Given the description of an element on the screen output the (x, y) to click on. 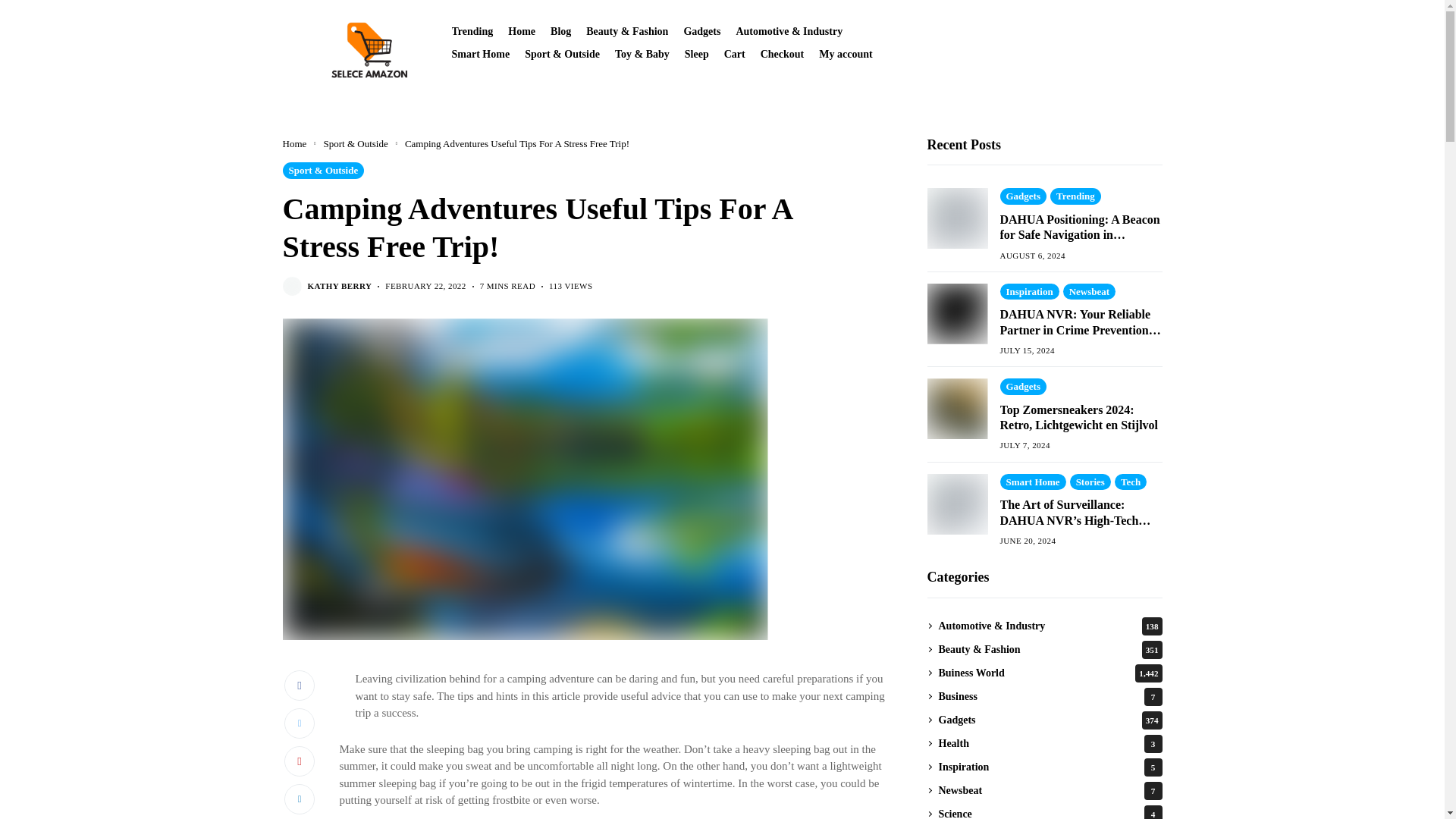
Gadgets (701, 30)
Checkout (782, 53)
My account (845, 53)
Posts by Kathy Berry (339, 286)
Blog (560, 30)
Smart Home (481, 53)
Trending (472, 30)
